Given the description of an element on the screen output the (x, y) to click on. 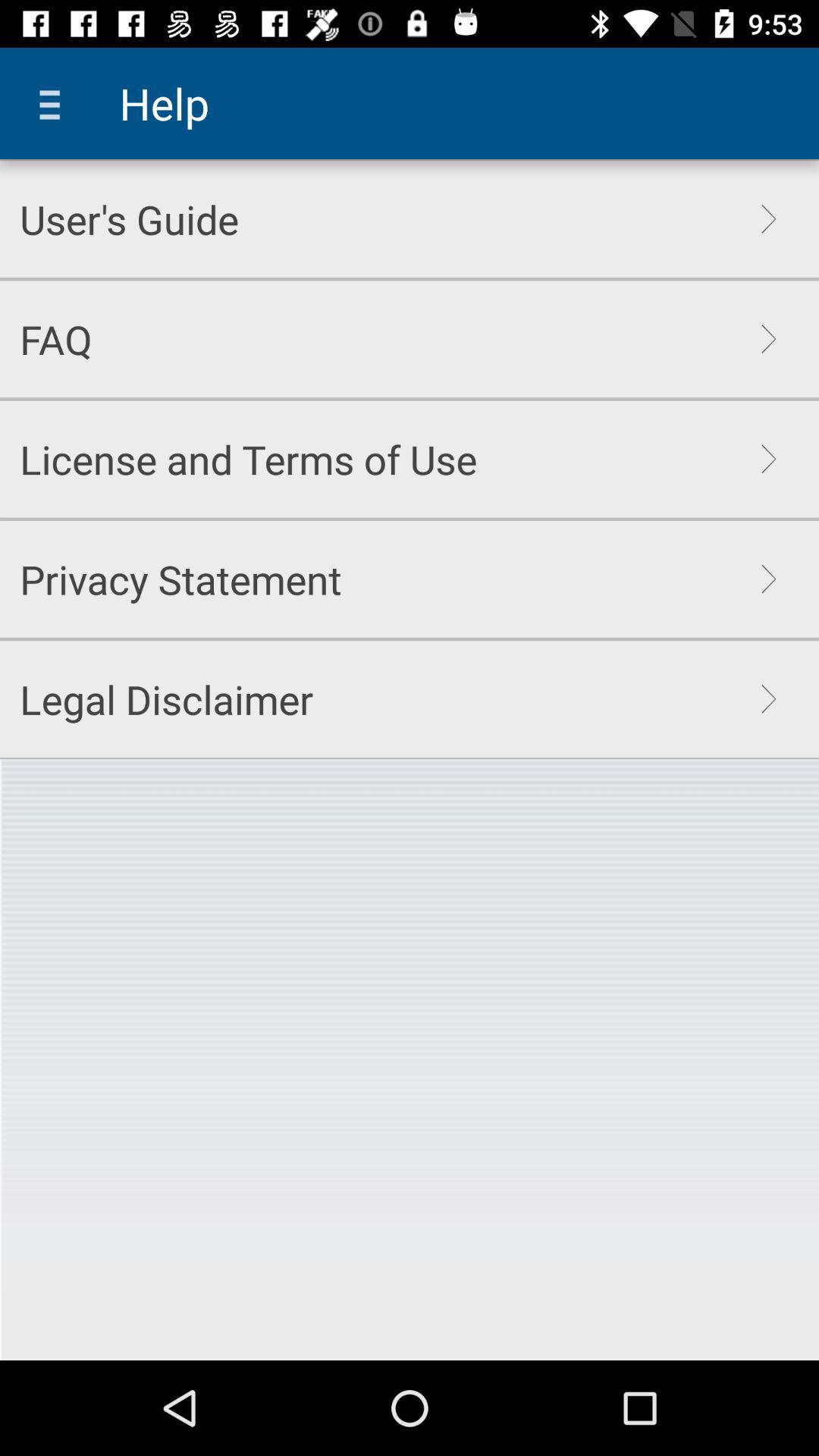
swipe until the privacy statement item (180, 578)
